Given the description of an element on the screen output the (x, y) to click on. 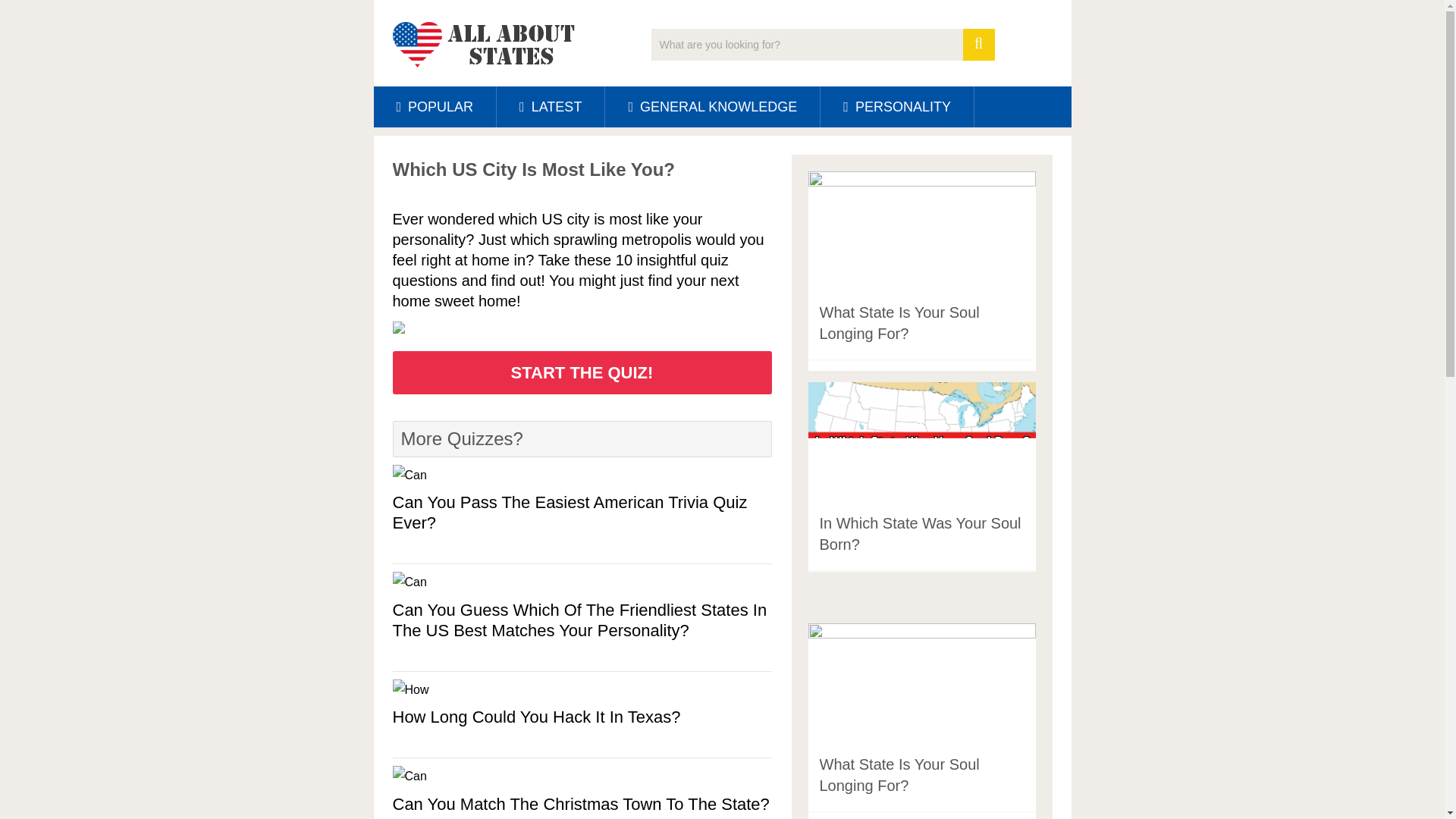
What State Is Your Soul Longing For? (898, 322)
START THE QUIZ! (582, 372)
What State Is Your Soul Longing For? (898, 774)
Can You Match The Christmas Town To The State? (582, 803)
What State Is Your Soul Longing For? (898, 774)
How Long Could You Hack It In Texas? (582, 716)
POPULAR (434, 106)
Can You Pass The Easiest American Trivia Quiz Ever? (582, 512)
LATEST (550, 106)
In Which State Was Your Soul Born? (919, 533)
In Which State Was Your Soul Born? (919, 533)
GENERAL KNOWLEDGE (712, 106)
What State Is Your Soul Longing For? (898, 322)
PERSONALITY (897, 106)
